Given the description of an element on the screen output the (x, y) to click on. 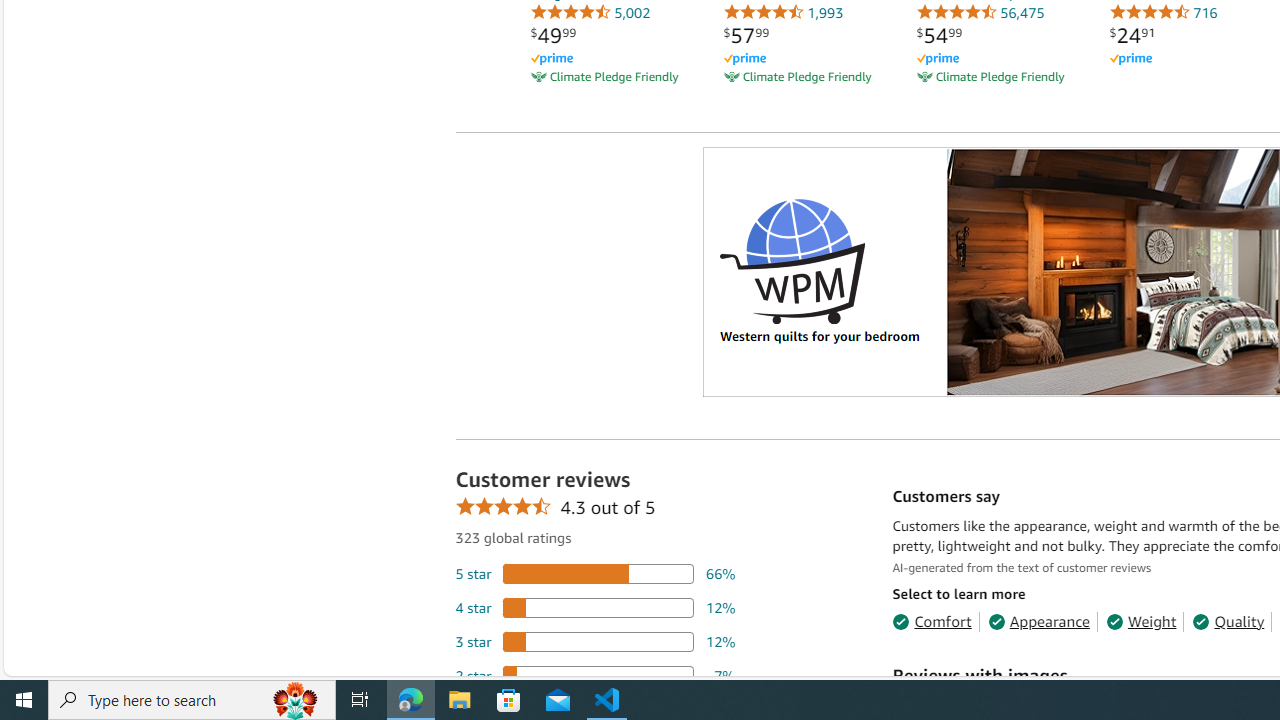
1,993 (783, 12)
12 percent of reviews have 4 stars (595, 606)
Amazon Prime (1130, 59)
56,475 (980, 12)
7 percent of reviews have 2 stars (595, 675)
